Given the description of an element on the screen output the (x, y) to click on. 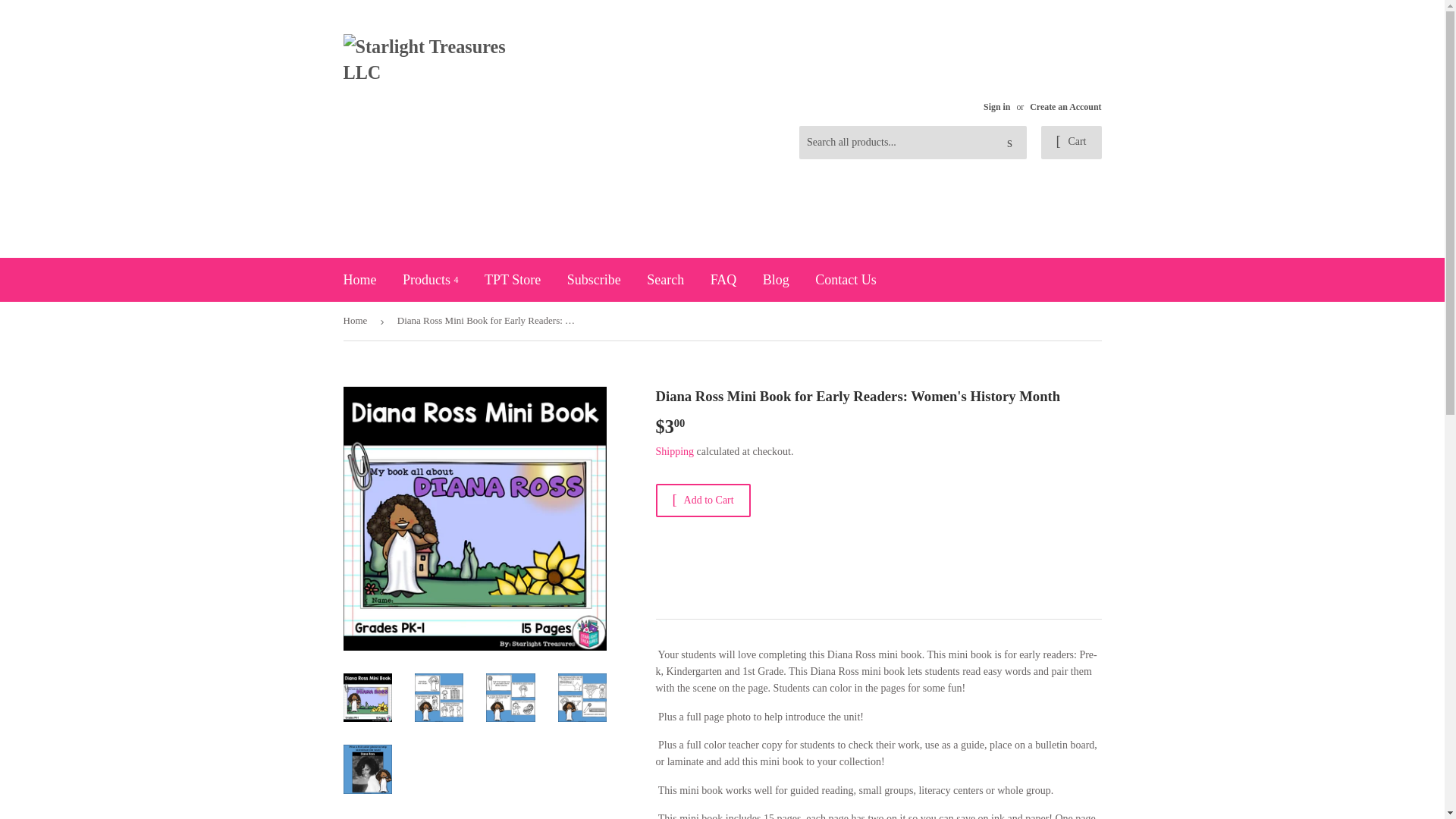
Subscribe (593, 279)
TPT Store (512, 279)
Search (664, 279)
Search (1009, 142)
Products (430, 279)
Sign in (997, 106)
Home (359, 279)
Blog (775, 279)
Contact Us (845, 279)
Create an Account (1064, 106)
